Given the description of an element on the screen output the (x, y) to click on. 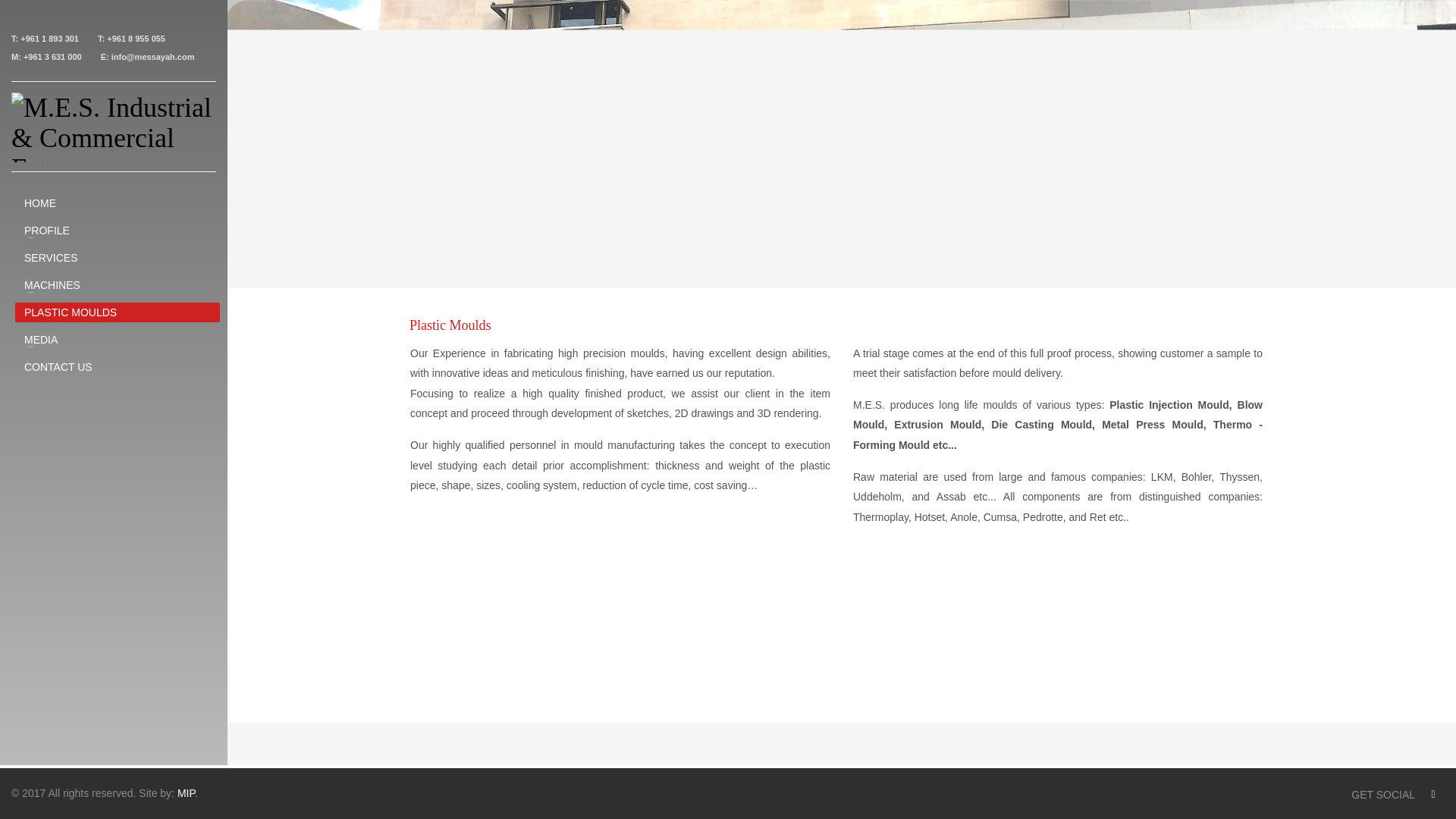
MEDIA (116, 339)
CONTACT US (116, 366)
HOME (116, 202)
PROFILE (116, 230)
PLASTIC MOULDS (116, 312)
SERVICES (116, 257)
MACHINES (116, 284)
